Given the description of an element on the screen output the (x, y) to click on. 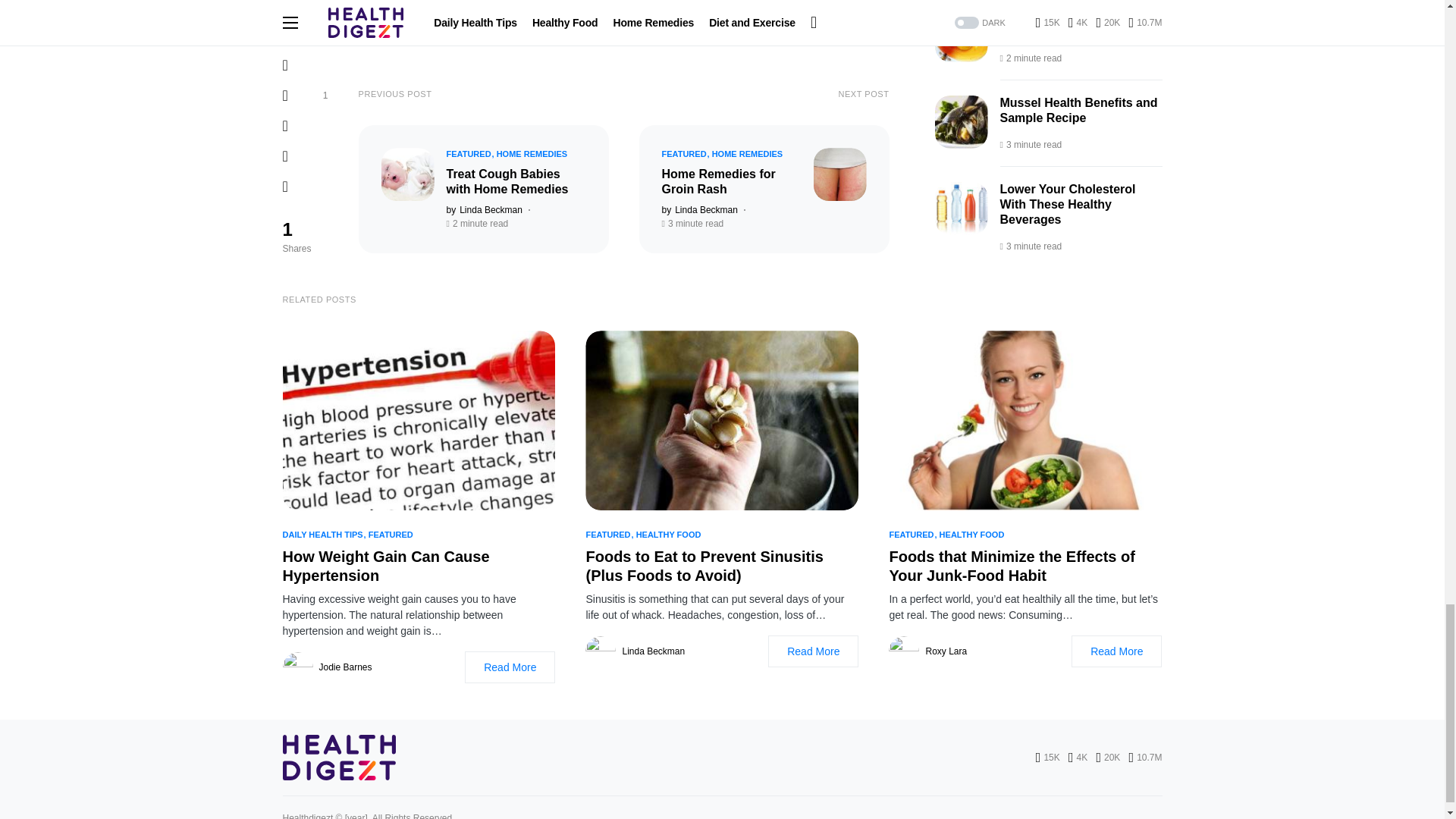
View all posts by Linda Beckman (483, 210)
View all posts by Linda Beckman (698, 210)
